Given the description of an element on the screen output the (x, y) to click on. 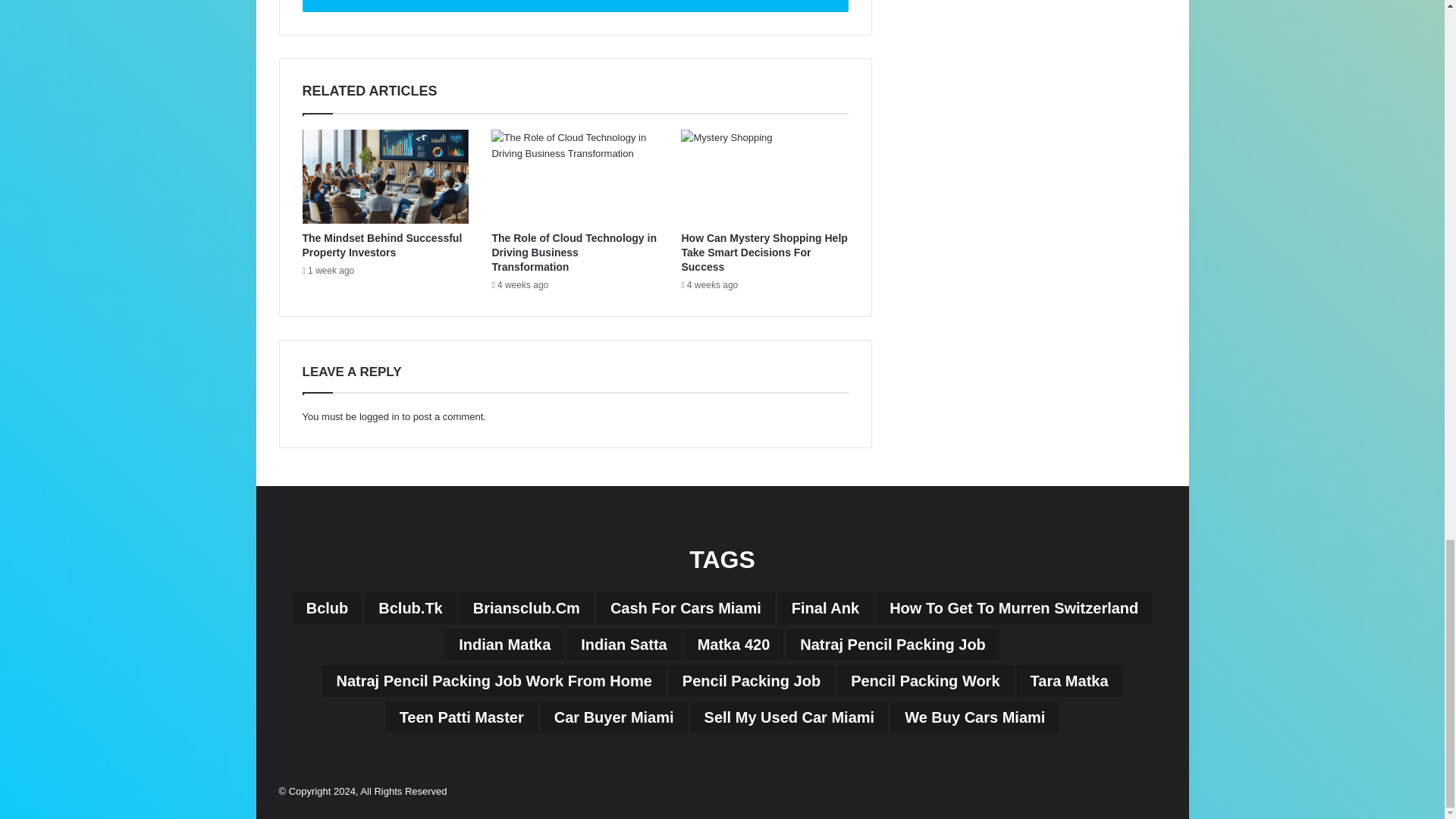
Subscribe (574, 6)
Subscribe (574, 6)
The Mindset Behind Successful Property Investors (381, 244)
